Given the description of an element on the screen output the (x, y) to click on. 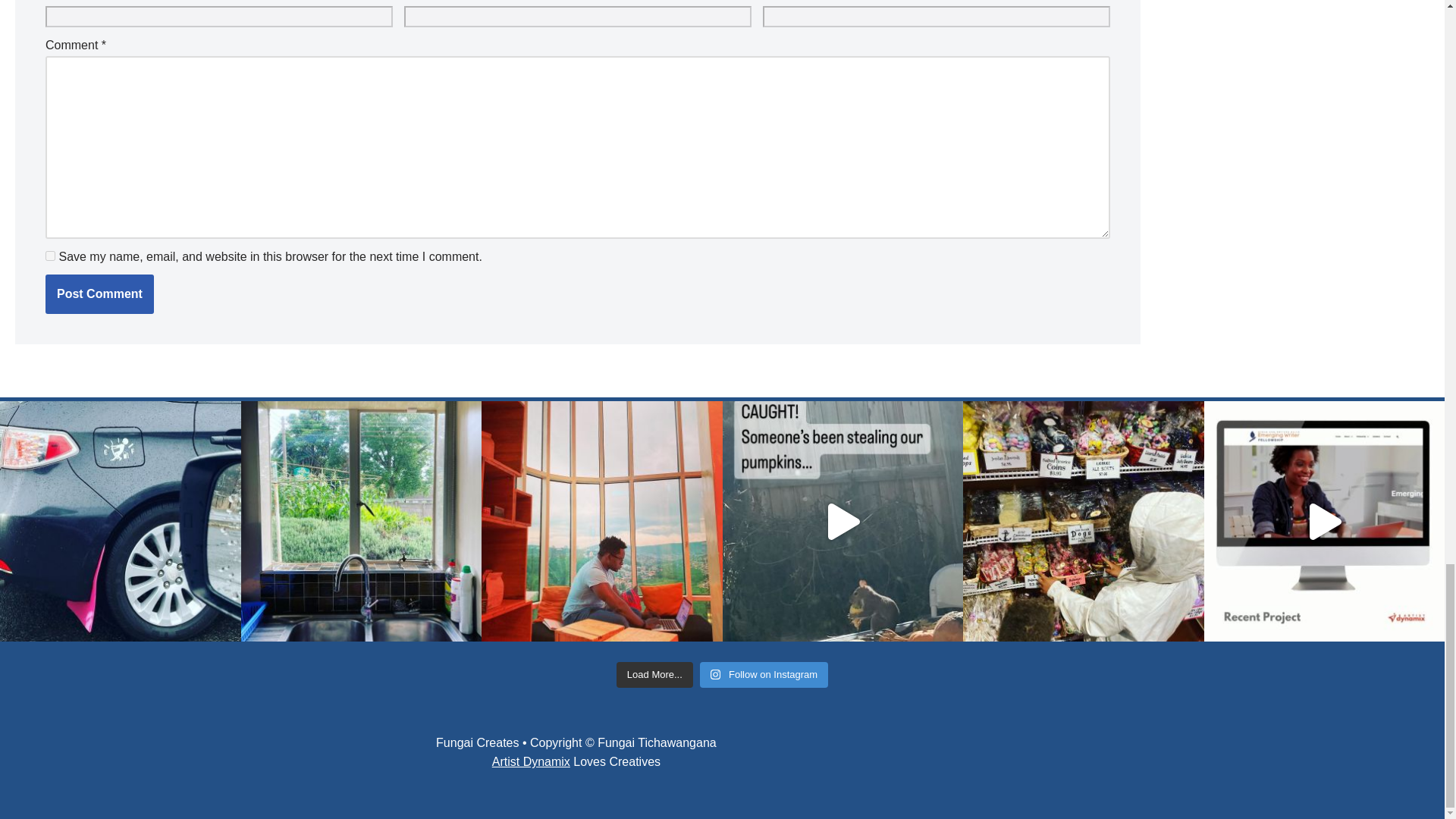
Post Comment (99, 293)
yes (50, 255)
